Given the description of an element on the screen output the (x, y) to click on. 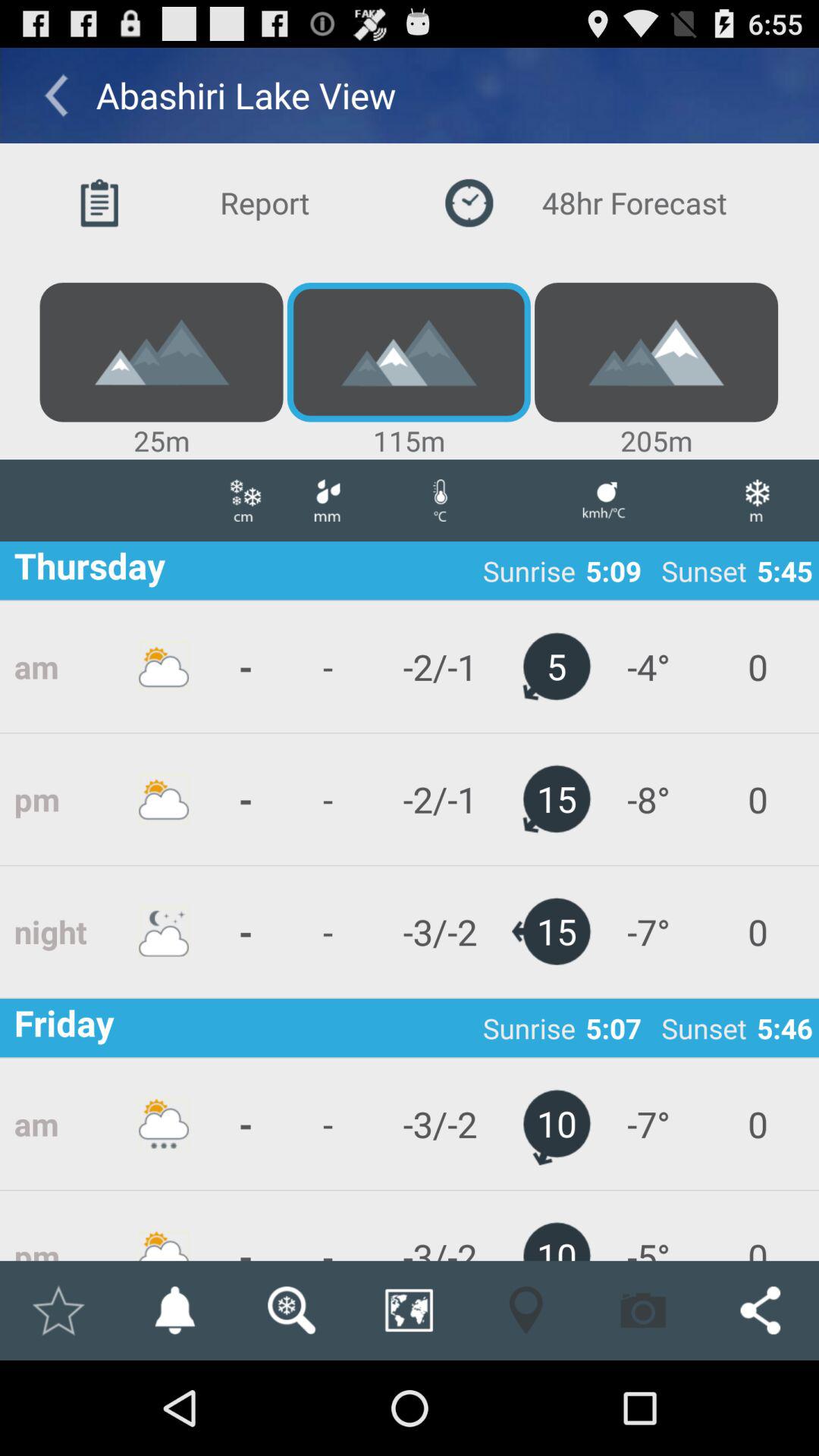
zoom in to the weather (291, 1310)
